Given the description of an element on the screen output the (x, y) to click on. 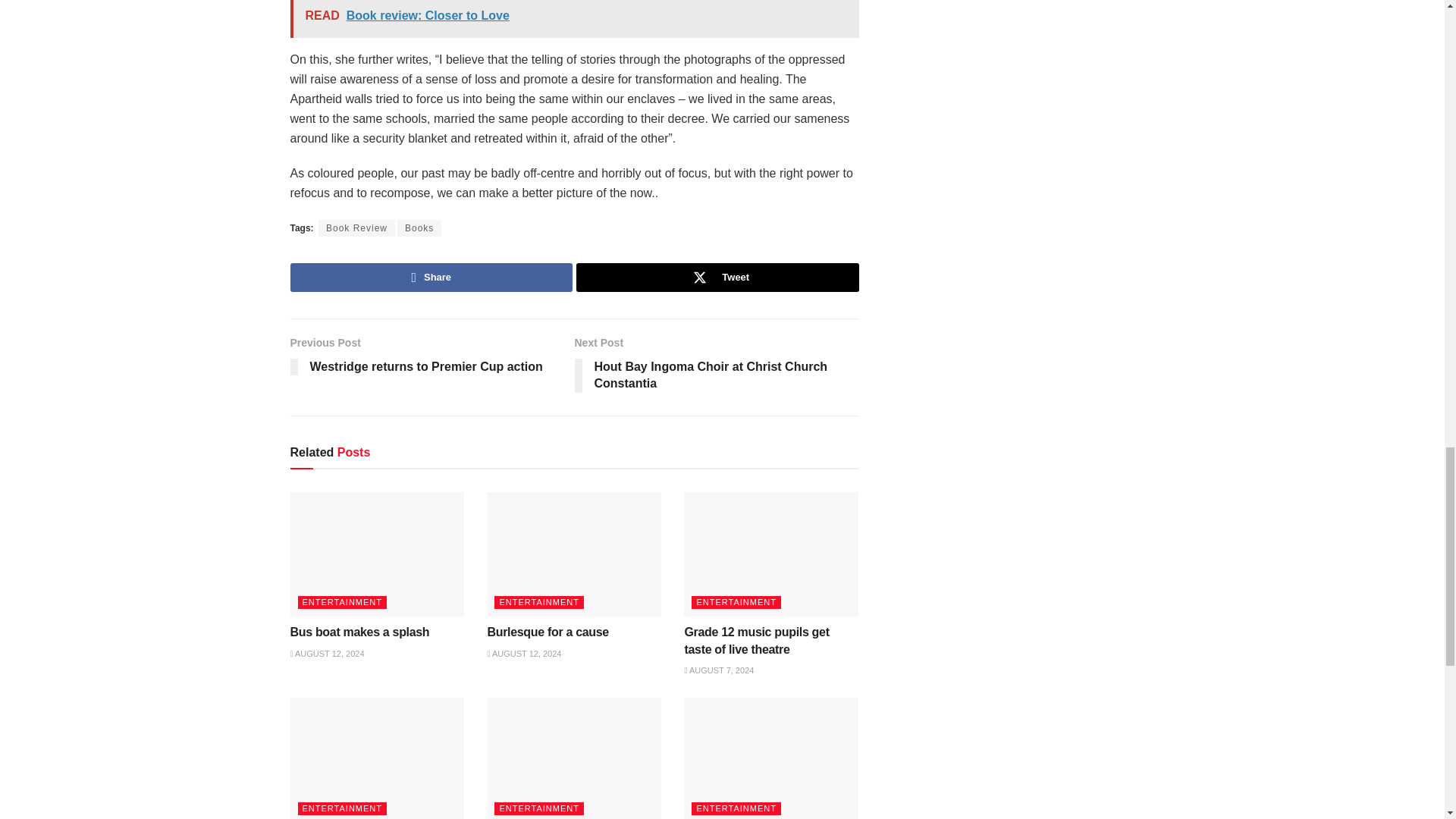
Share (430, 276)
Book Review (356, 228)
READ  Book review: Closer to Love (574, 18)
Books (419, 228)
3rd party ad content (1007, 31)
